Given the description of an element on the screen output the (x, y) to click on. 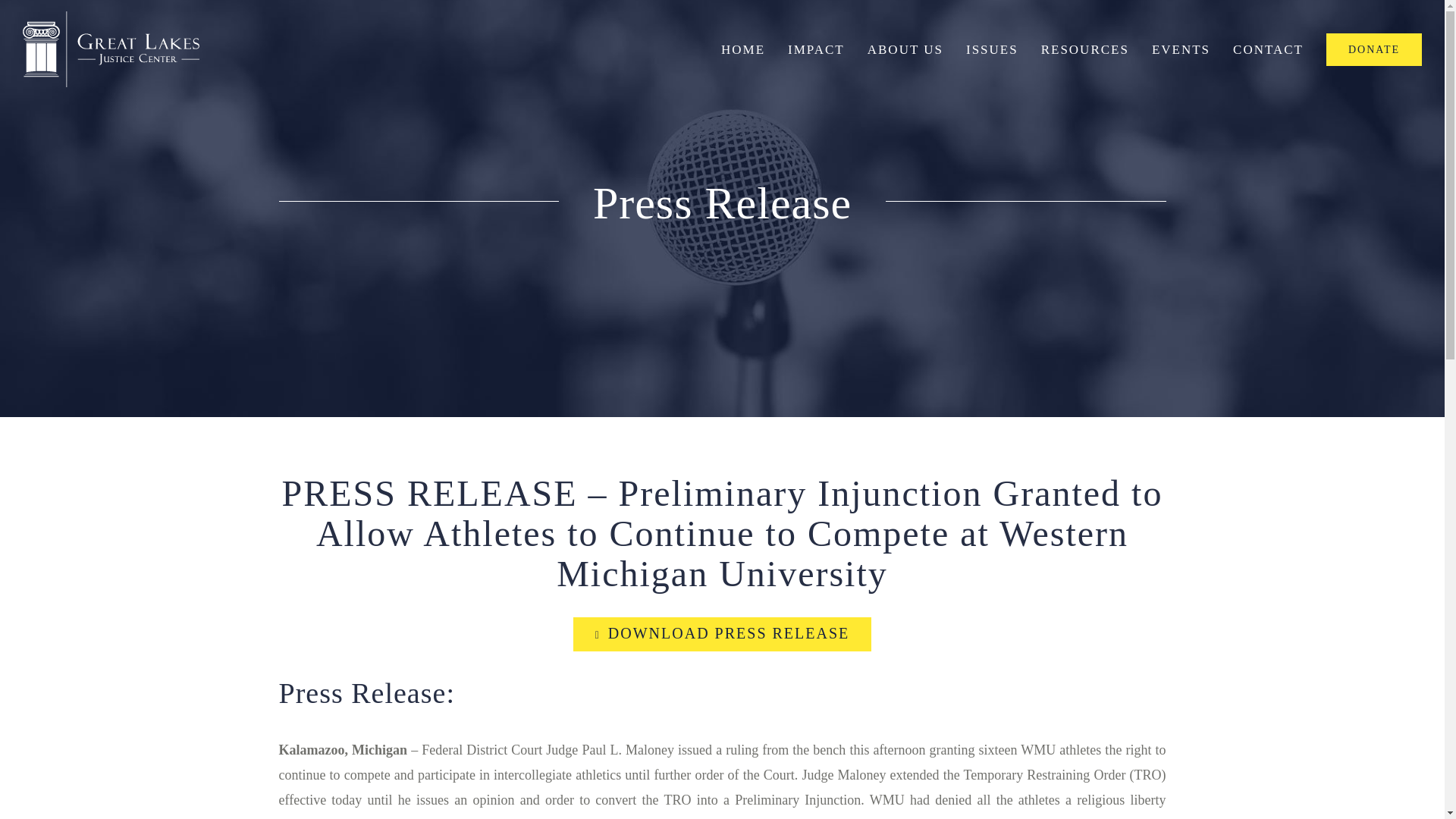
DONATE (1374, 49)
RESOURCES (1085, 49)
